Given the description of an element on the screen output the (x, y) to click on. 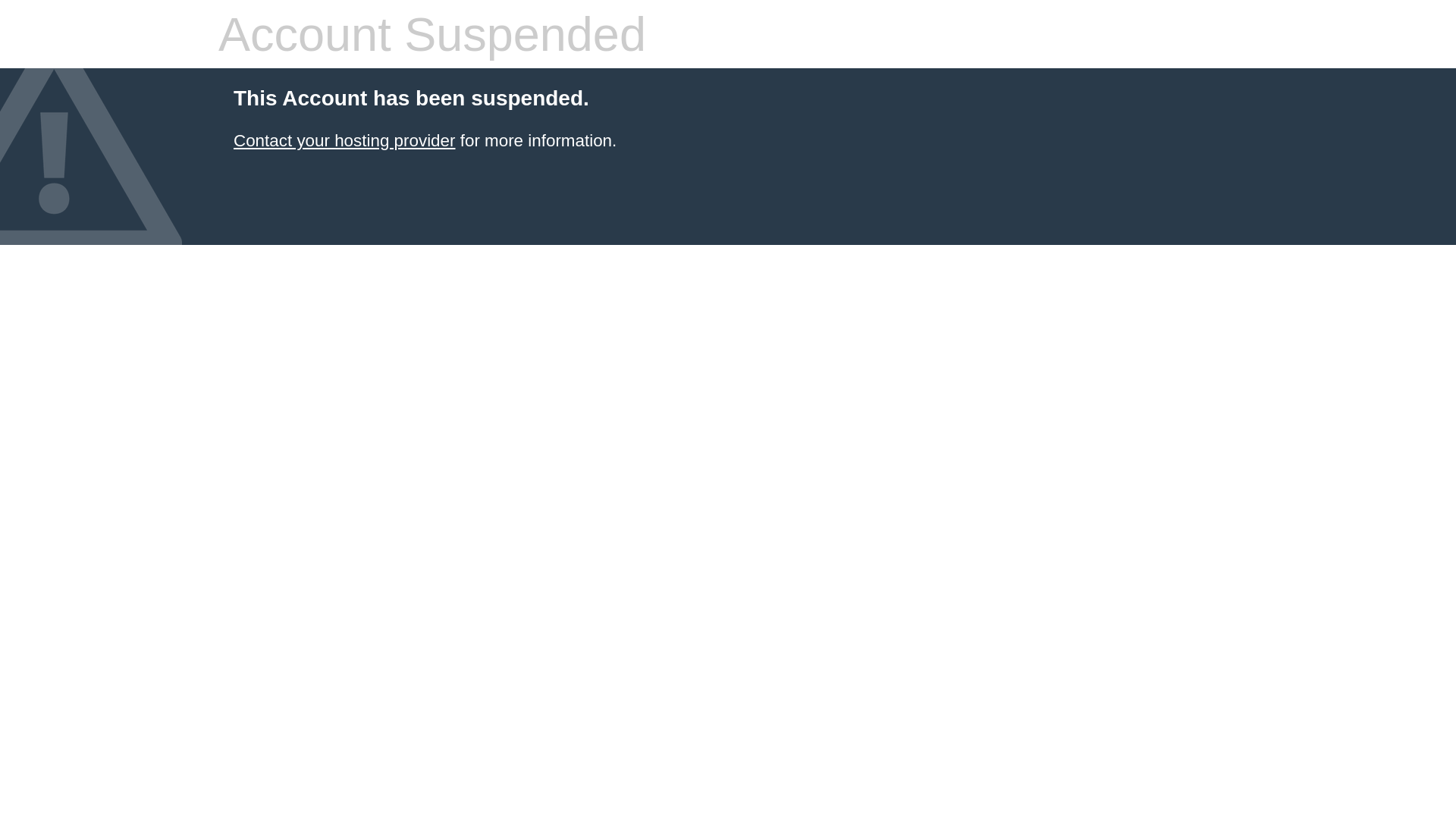
Contact your hosting provider Element type: text (344, 140)
